Given the description of an element on the screen output the (x, y) to click on. 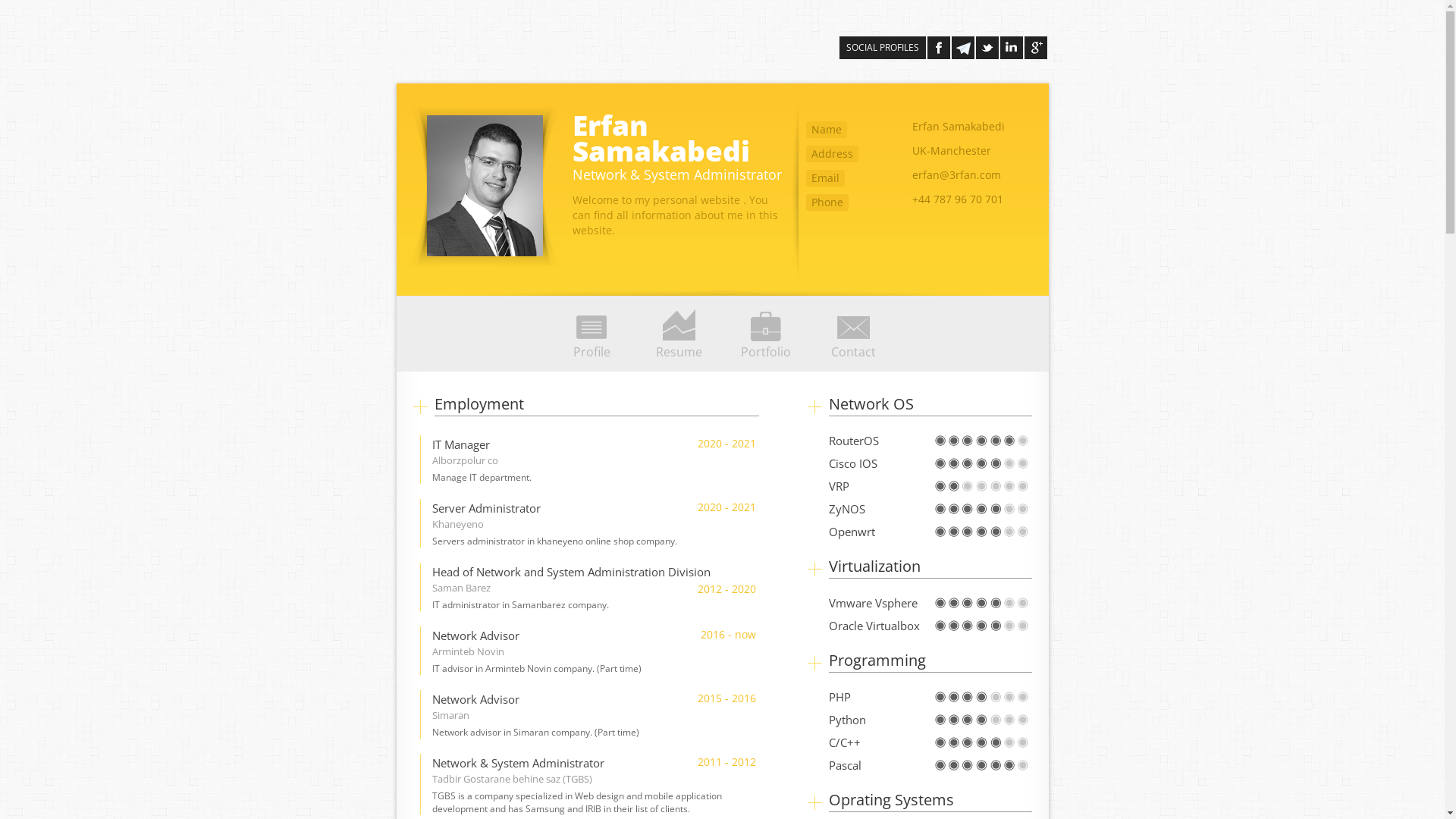
Resume Element type: text (678, 328)
Profile Element type: text (590, 328)
Contact Element type: text (853, 328)
Portfolio Element type: text (765, 328)
SOCIAL PROFILES Element type: text (881, 47)
erfan abedi Element type: hover (484, 185)
